Given the description of an element on the screen output the (x, y) to click on. 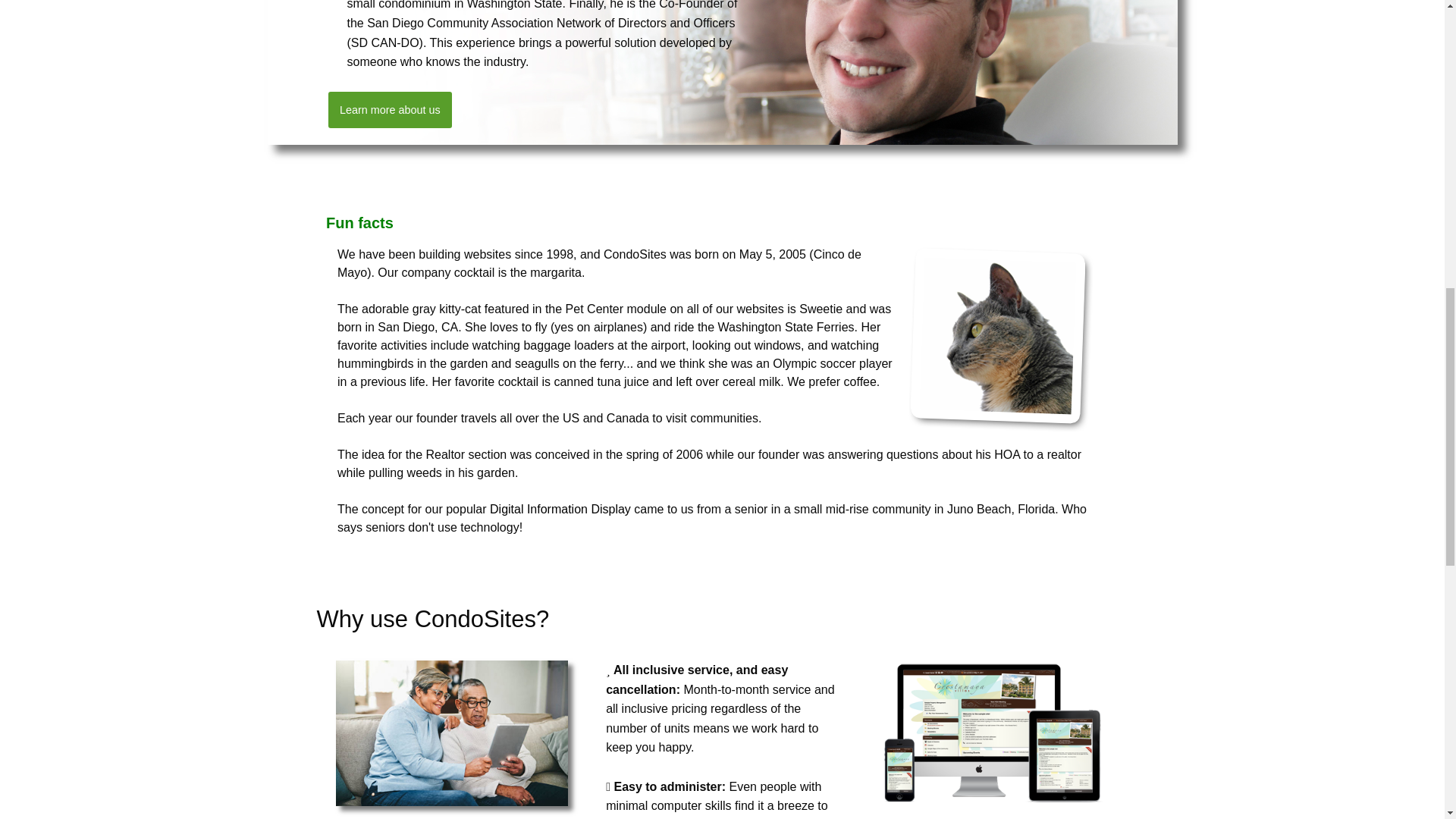
Digital Information Display (559, 508)
Learn more about us (389, 109)
